Given the description of an element on the screen output the (x, y) to click on. 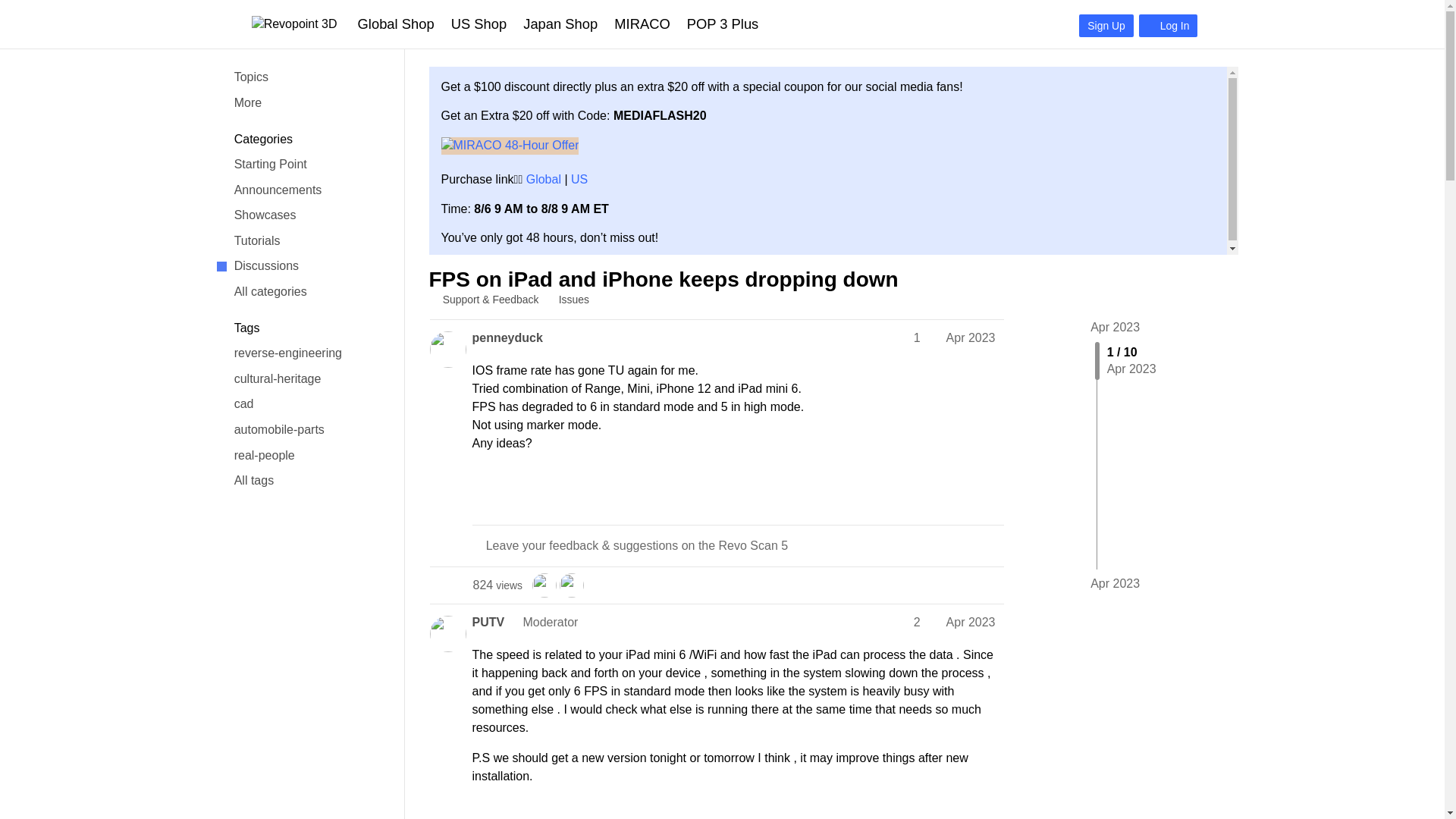
Announcements (301, 190)
Japan Shop (560, 23)
Apr 2023 (1115, 327)
cultural-heritage (301, 379)
cad (301, 404)
Global Shop (395, 23)
Toggle section (301, 328)
Topics (301, 77)
MIRACO (641, 23)
POP 3 Plus (722, 23)
